Given the description of an element on the screen output the (x, y) to click on. 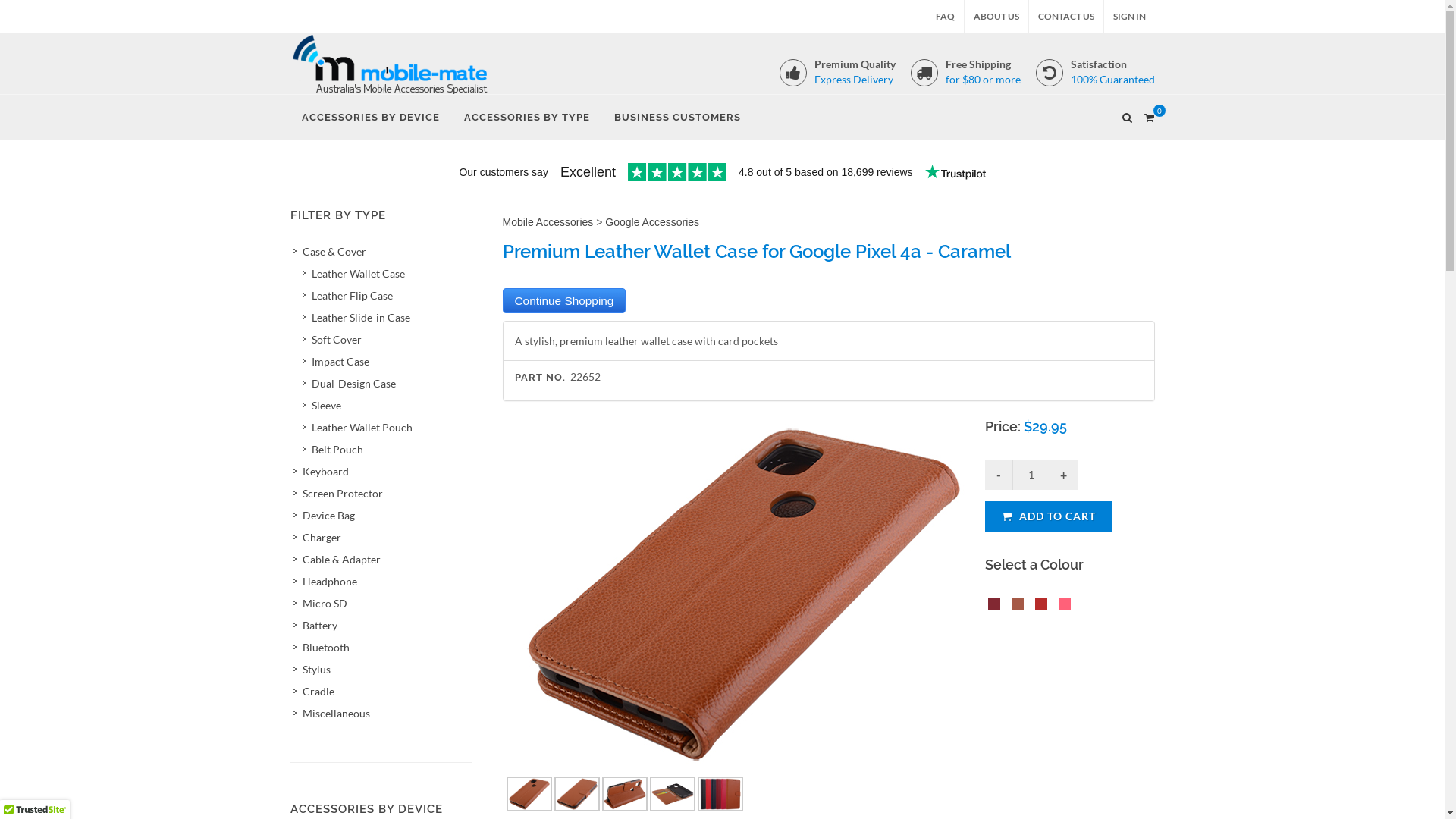
Red Element type: hover (1044, 606)
Battery Element type: text (380, 625)
Premium Leather Wallet Case for Google Pixel 4a - Red Element type: hover (1044, 605)
Qty Element type: hover (1031, 474)
Red Element type: hover (1038, 606)
Case & Cover Element type: text (380, 250)
Screen Protector Element type: text (380, 493)
Cradle Element type: text (380, 690)
Leather Wallet Pouch Element type: text (384, 426)
Charger Element type: text (380, 537)
Continue Shopping Element type: text (563, 300)
Customer reviews powered by Trustpilot Element type: hover (722, 173)
Premium Leather Wallet Case for Google Pixel 4a - Caramel Element type: hover (743, 594)
Device Bag Element type: text (380, 514)
Premium Leather Wallet Case for Google Pixel 4a - Pink Element type: hover (1061, 605)
0 Element type: text (1148, 114)
Premium Leather Wallet Case for Google Pixel 4a - Pink Element type: hover (1067, 605)
Caramel Element type: hover (1014, 606)
Keyboard Element type: text (380, 470)
SIGN IN Element type: text (1129, 16)
Micro SD Element type: text (380, 602)
Rosewood Element type: hover (997, 606)
Miscellaneous Element type: text (380, 713)
ACCESSORIES BY TYPE Element type: text (525, 117)
Stylus Element type: text (380, 669)
Bluetooth Element type: text (380, 646)
Cable & Adapter Element type: text (380, 558)
Pink Element type: hover (1061, 606)
Caramel Element type: hover (1020, 606)
Leather Wallet Case Element type: text (384, 273)
Premium Leather Wallet Case for Google Pixel 4a - Caramel Element type: hover (1020, 605)
Impact Case Element type: text (384, 361)
FAQ Element type: text (944, 16)
Premium Leather Wallet Case for Google Pixel 4a - Red Element type: hover (1038, 605)
Pink Element type: hover (1067, 606)
Sleeve Element type: text (384, 405)
Premium Leather Wallet Case for Google Pixel 4a - Caramel Element type: hover (1014, 605)
ADD TO CART Element type: text (1048, 516)
CONTACT US Element type: text (1065, 16)
Soft Cover Element type: text (384, 338)
Rosewood Element type: hover (991, 606)
BUSINESS CUSTOMERS Element type: text (676, 117)
Belt Pouch Element type: text (384, 449)
Leather Flip Case Element type: text (384, 294)
Headphone Element type: text (380, 581)
Google Accessories Element type: text (652, 222)
ABOUT US Element type: text (996, 16)
Leather Slide-in Case Element type: text (384, 317)
Mobile Accessories Element type: text (547, 222)
Premium Leather Wallet Case for Google Pixel 4a - Rosewood Element type: hover (997, 605)
Premium Leather Wallet Case for Google Pixel 4a - Rosewood Element type: hover (991, 605)
Dual-Design Case Element type: text (384, 382)
ACCESSORIES BY DEVICE Element type: text (369, 117)
